Given the description of an element on the screen output the (x, y) to click on. 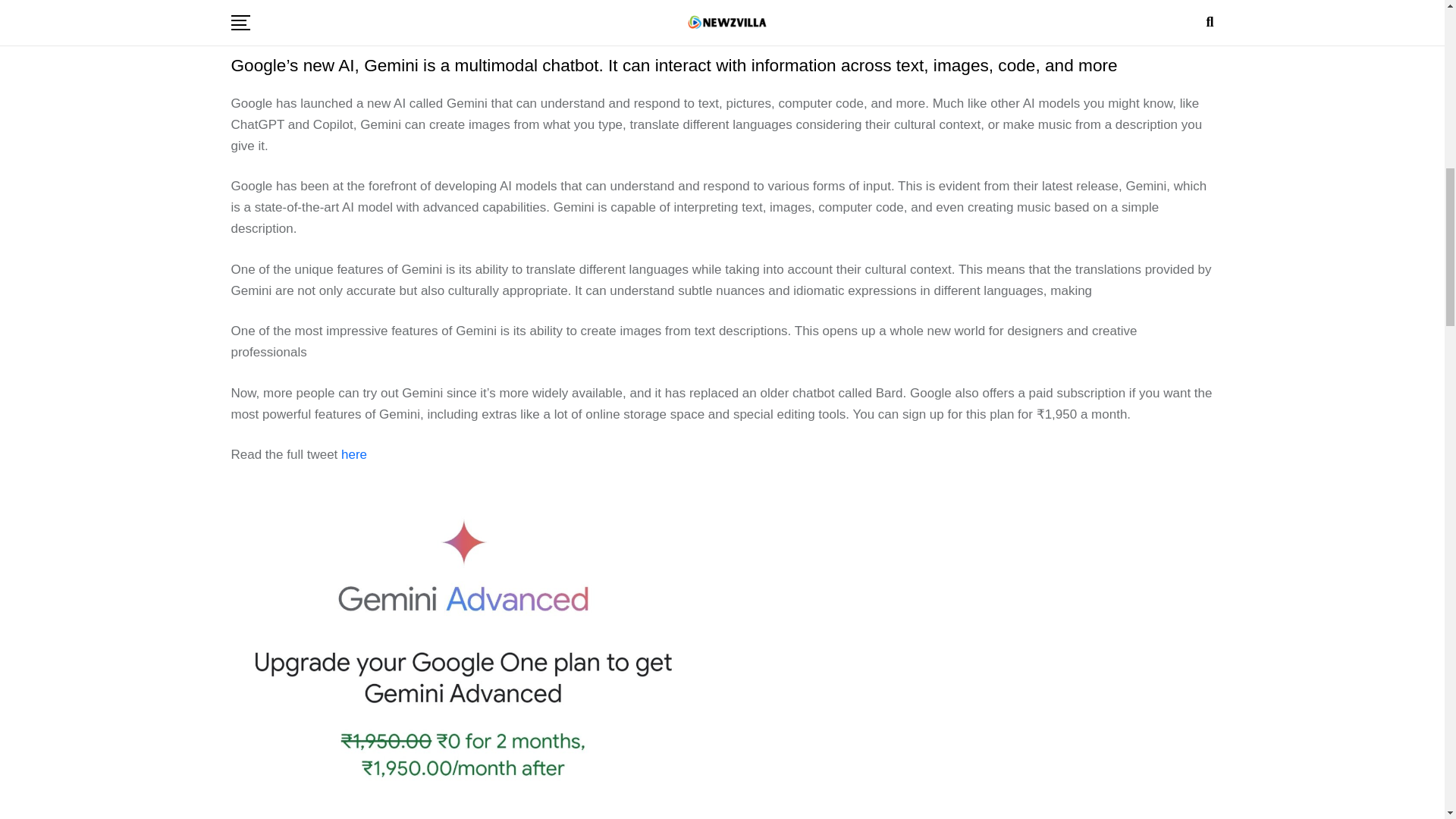
here (353, 454)
Newzvilla (685, 16)
